Given the description of an element on the screen output the (x, y) to click on. 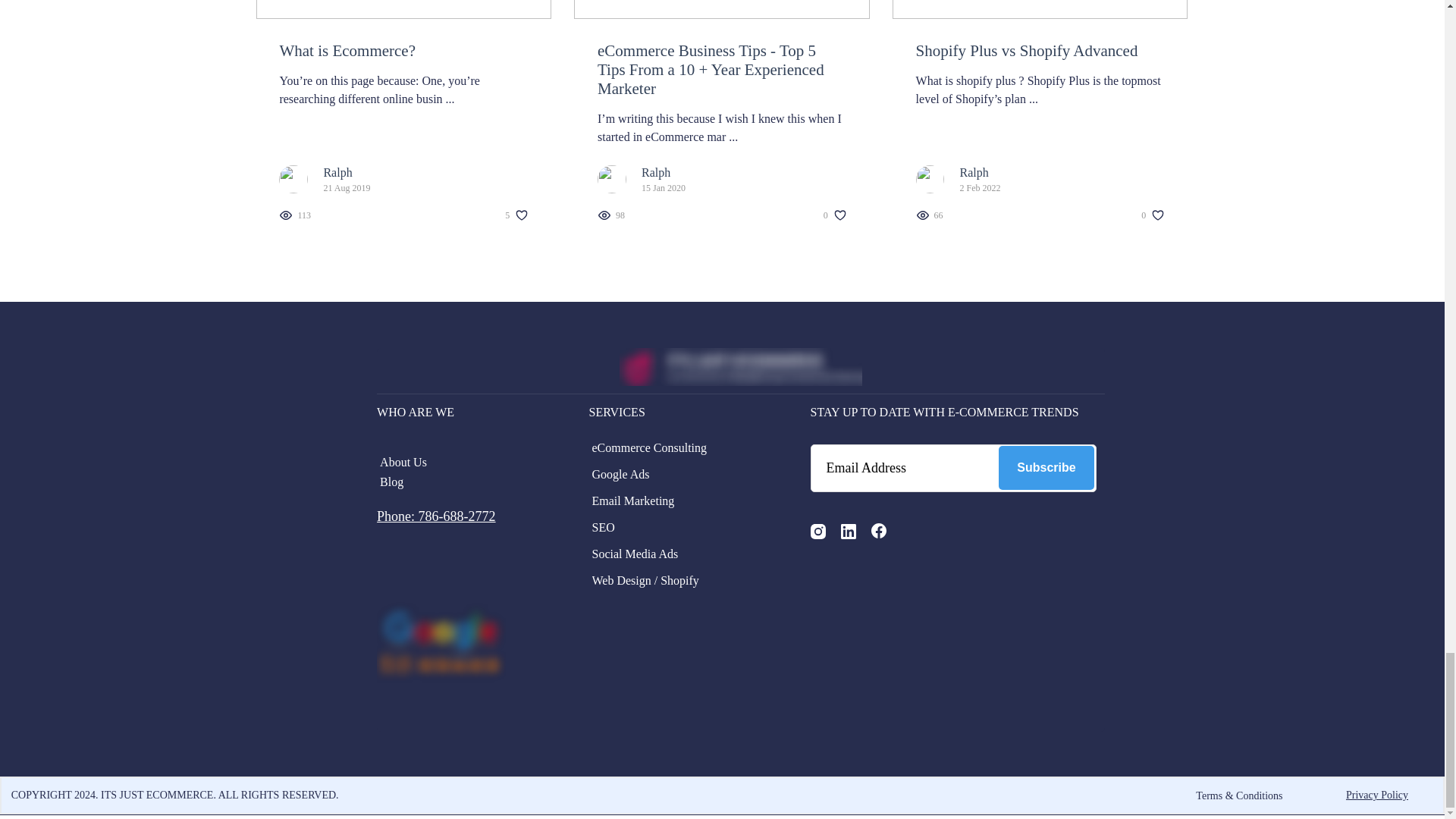
Blog (471, 481)
Social Media Ads (682, 553)
Phone: 786-688-2772 (436, 516)
About Us (471, 462)
Google Ads (682, 474)
Email Marketing (682, 500)
SEO (682, 527)
eCommerce Consulting (682, 447)
